Given the description of an element on the screen output the (x, y) to click on. 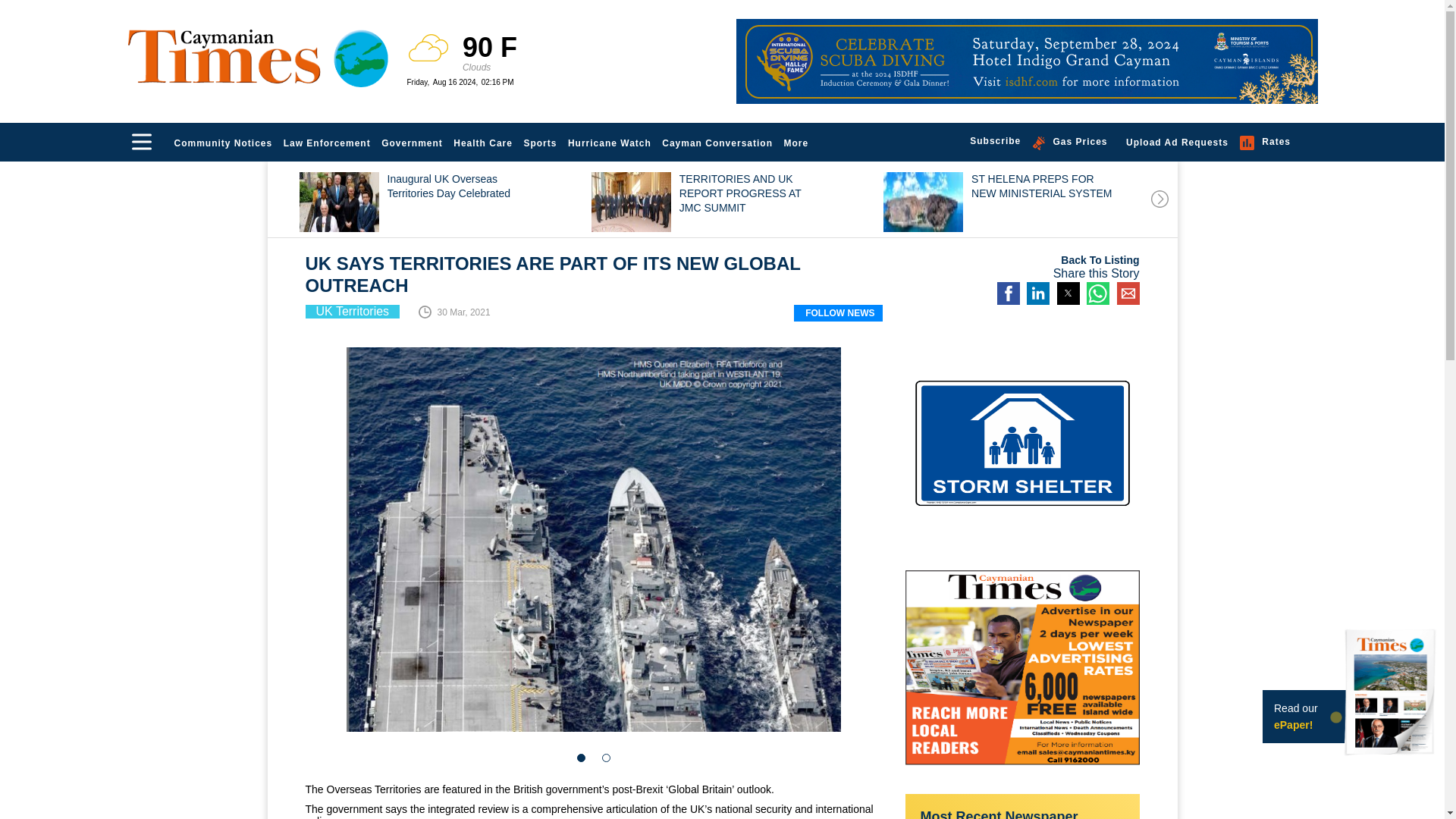
Sports (539, 143)
Caymanian Times (258, 55)
Cayman Conversation (717, 143)
Law Enforcement (326, 143)
ST HELENA PREPS FOR NEW MINISTERIAL SYSTEM (1025, 203)
Government (411, 143)
CIDOT (1026, 61)
Menu (141, 141)
Health Care (482, 143)
